Given the description of an element on the screen output the (x, y) to click on. 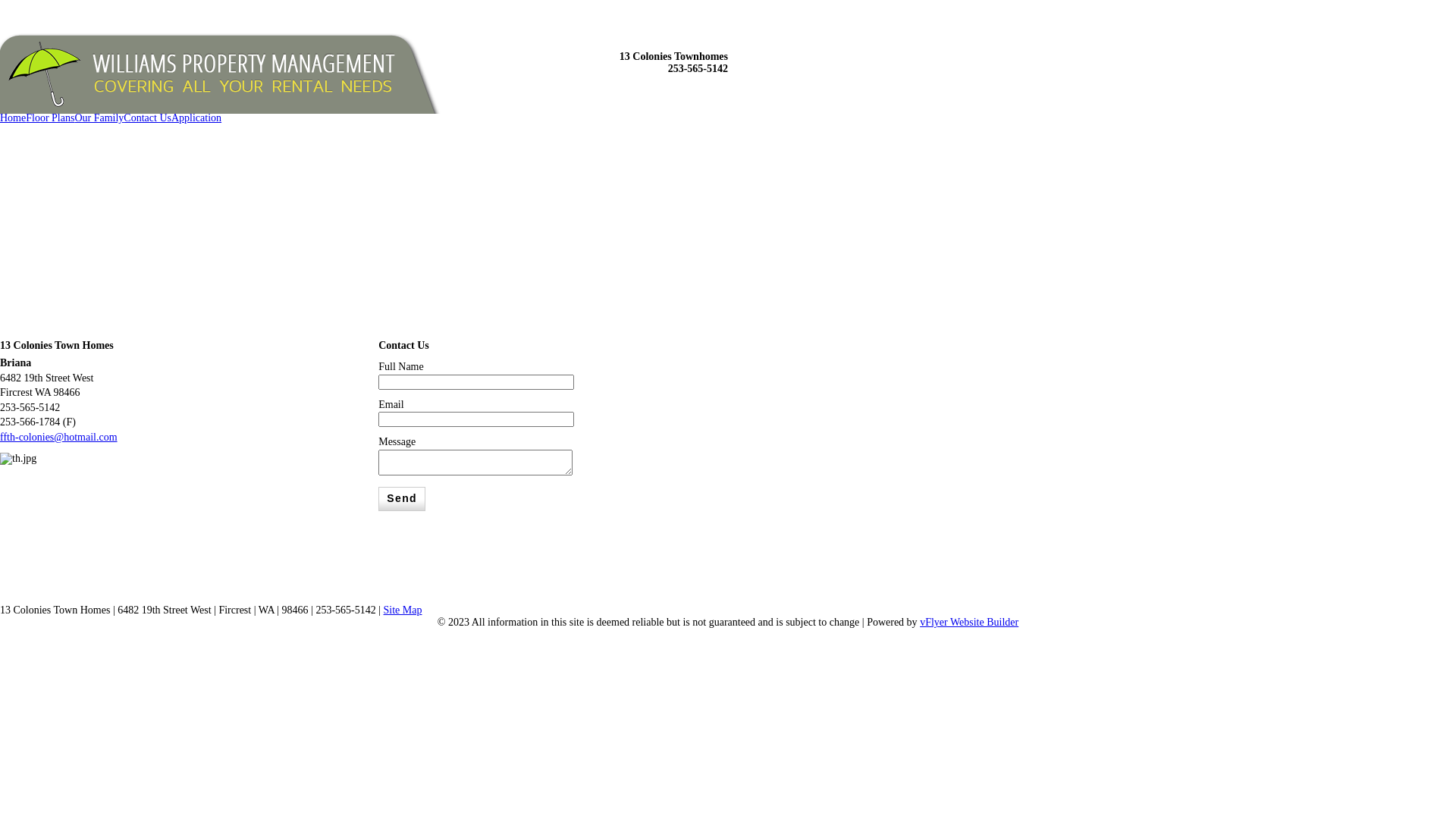
Application Element type: text (196, 117)
Home Element type: text (12, 117)
vFlyer Website Builder Element type: text (968, 621)
Contact Us Element type: text (147, 117)
Our Family Element type: text (98, 117)
ffth-colonies@hotmail.com Element type: text (58, 436)
Send Element type: text (401, 498)
Floor Plans Element type: text (49, 117)
Site Map Element type: text (402, 609)
